Given the description of an element on the screen output the (x, y) to click on. 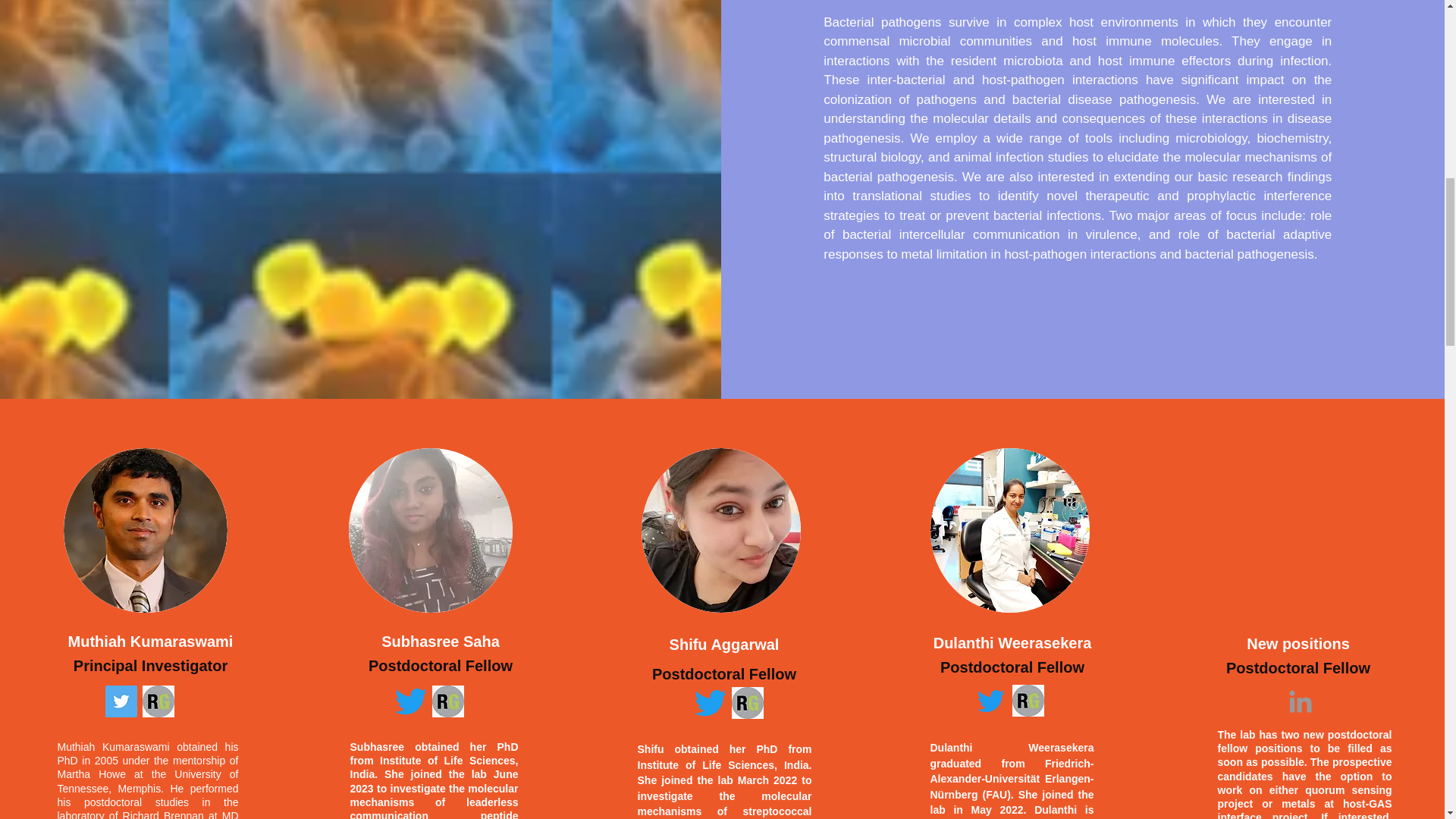
guy4.jpg (430, 529)
guy2.jpg (145, 529)
guy3.jpg (1009, 529)
guy3.jpg (721, 529)
